Given the description of an element on the screen output the (x, y) to click on. 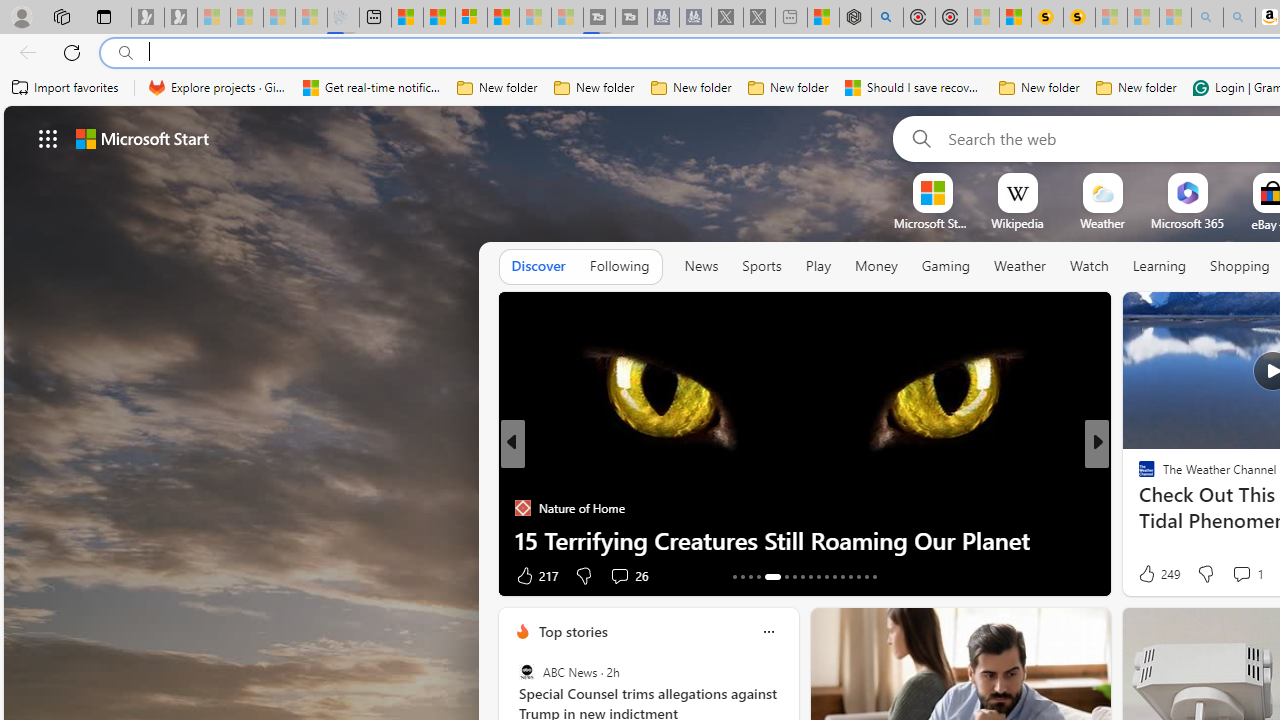
AutomationID: tab-28 (865, 576)
View comments 1 Comment (1247, 574)
View comments 8 Comment (1229, 575)
4 Like (1145, 574)
Should I save recovered Word documents? - Microsoft Support (913, 88)
Wikipedia (1017, 223)
View comments 8 Comment (1234, 574)
